Given the description of an element on the screen output the (x, y) to click on. 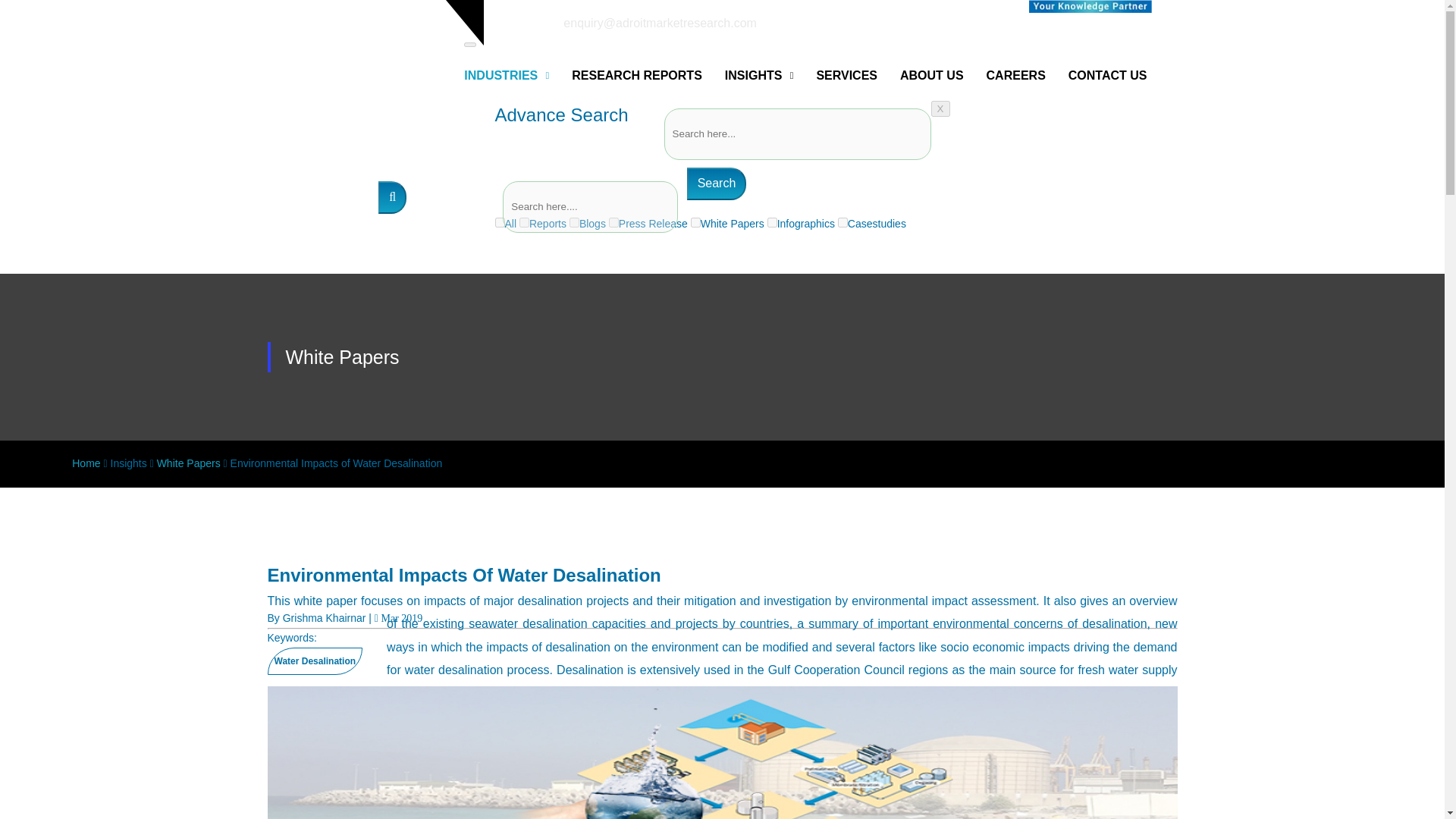
Environmental Impacts of Water Desalination (721, 752)
press (613, 222)
INDUSTRIES (506, 75)
Water Desalination (314, 660)
whitepaper (695, 222)
infographics (772, 222)
blogs (574, 222)
Adroit Market Research (1090, 6)
casestudies (842, 222)
on (499, 222)
